Given the description of an element on the screen output the (x, y) to click on. 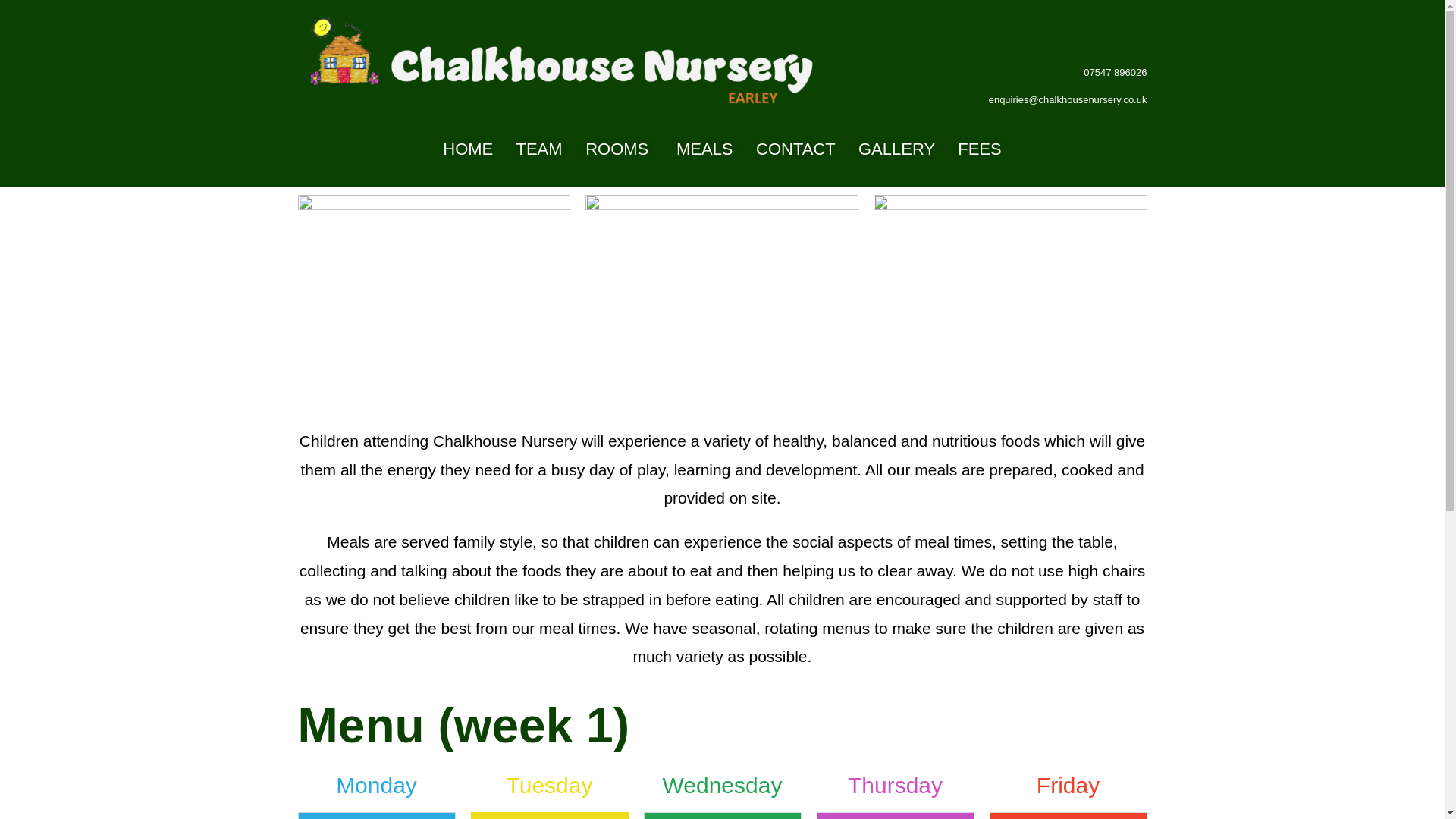
TEAM (538, 148)
FEES (979, 148)
MEALS (705, 148)
ROOMS (616, 148)
HOME (467, 148)
GALLERY (896, 148)
CONTACT (794, 148)
